Given the description of an element on the screen output the (x, y) to click on. 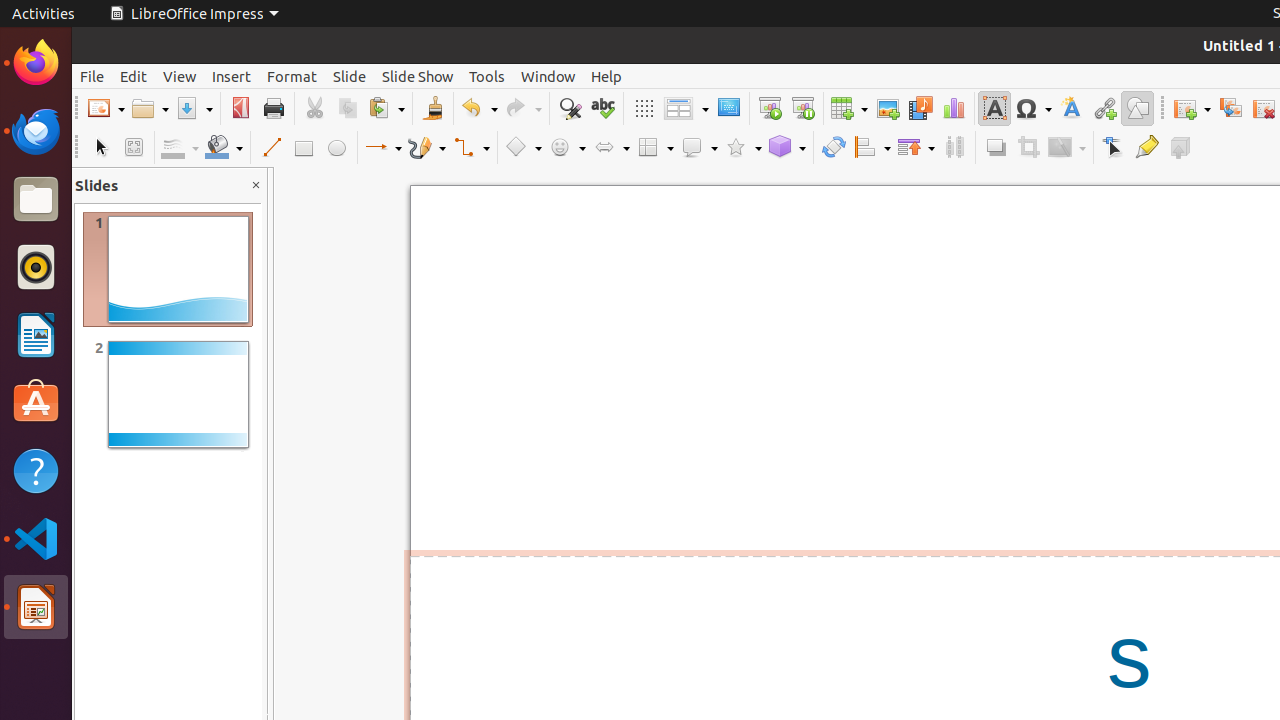
Clone Element type: push-button (432, 108)
Visual Studio Code Element type: push-button (36, 538)
Table Element type: push-button (849, 108)
Curves and Polygons Element type: push-button (427, 147)
